Given the description of an element on the screen output the (x, y) to click on. 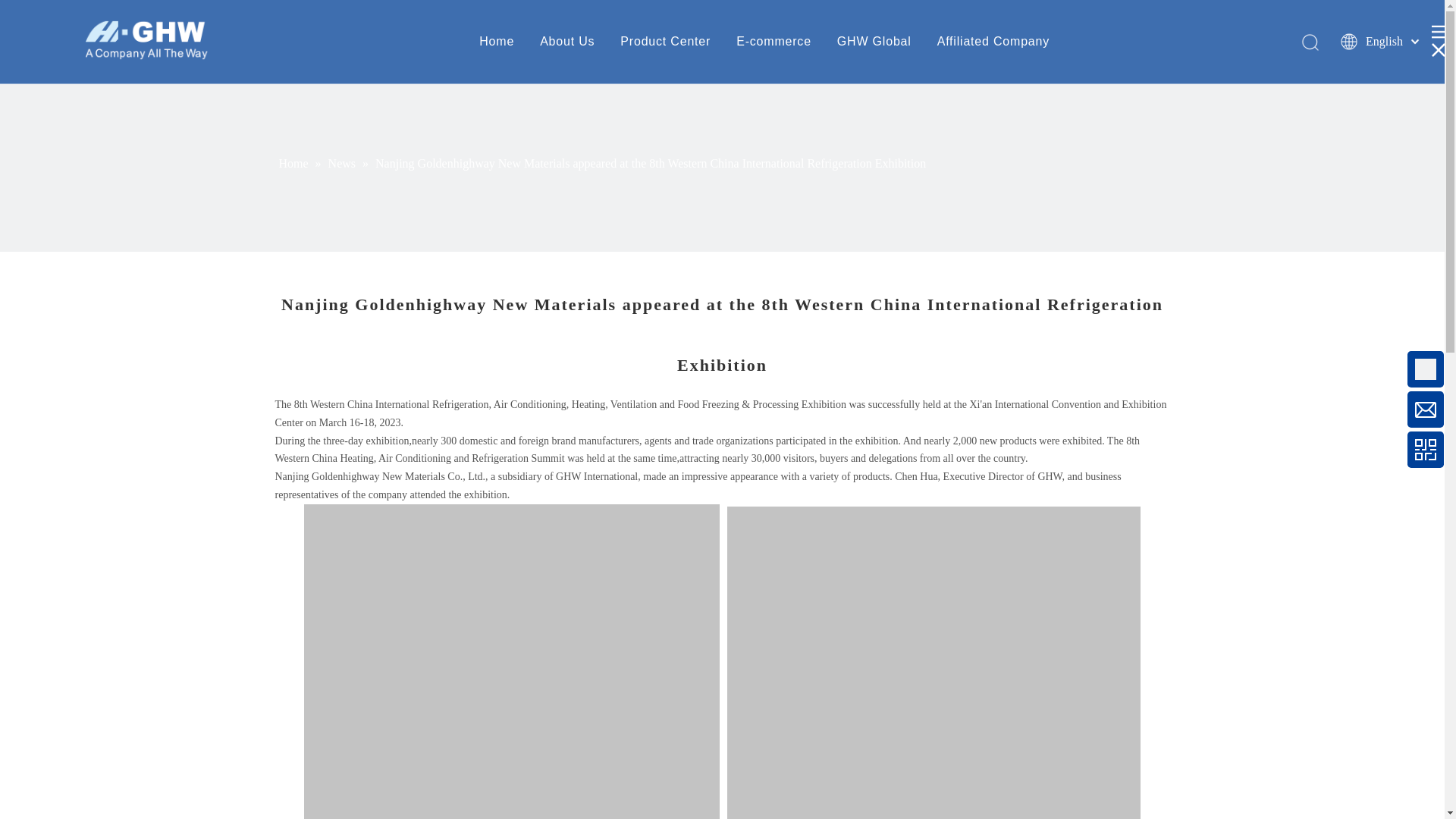
Product Center (665, 41)
News (343, 163)
About Us (567, 41)
Customer Experience Center: 4009 288 777 (1300, 376)
Affiliated Company (993, 41)
Home (496, 41)
GHW Global (874, 41)
E-commerce (773, 41)
Home (295, 163)
